Given the description of an element on the screen output the (x, y) to click on. 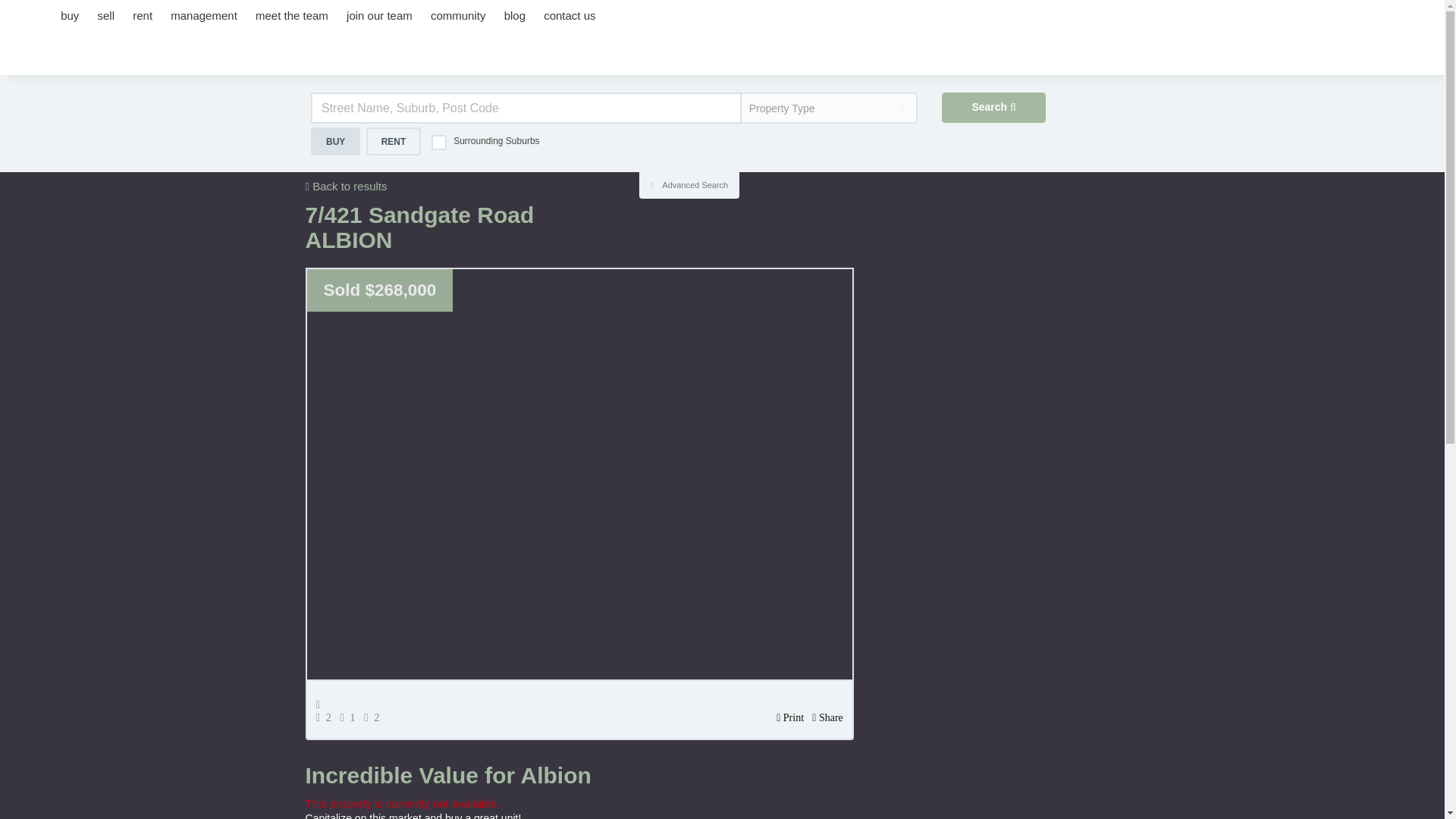
community (458, 27)
Parking (374, 717)
Rent (394, 141)
Beds (325, 717)
Buy (335, 141)
Baths (350, 717)
meet the team (291, 27)
join our team (379, 27)
management (203, 27)
